Given the description of an element on the screen output the (x, y) to click on. 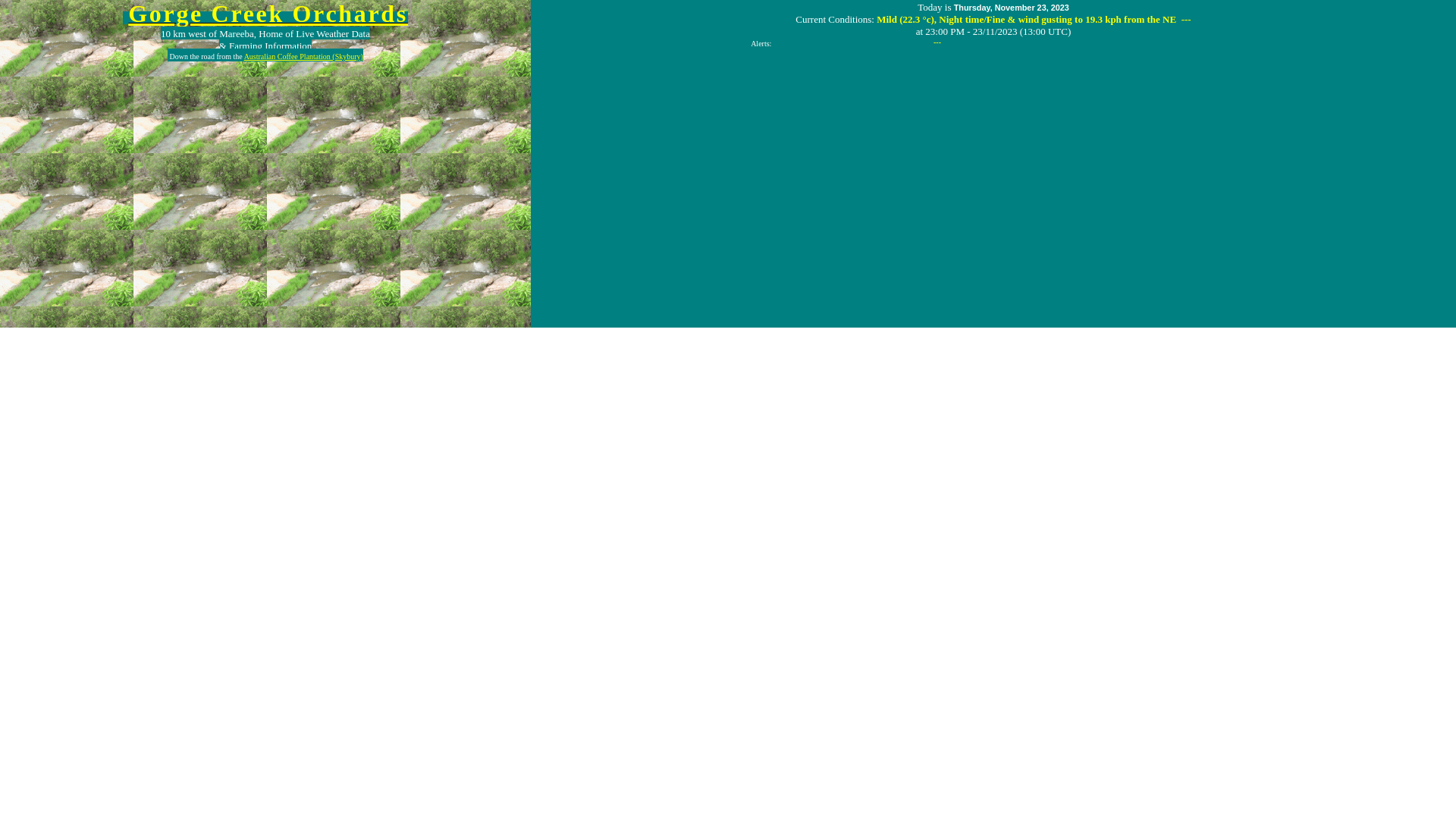
Australian Coffee Plantation (Skybury) Element type: text (303, 56)
Gorge Creek Orchards Element type: text (267, 13)
